Given the description of an element on the screen output the (x, y) to click on. 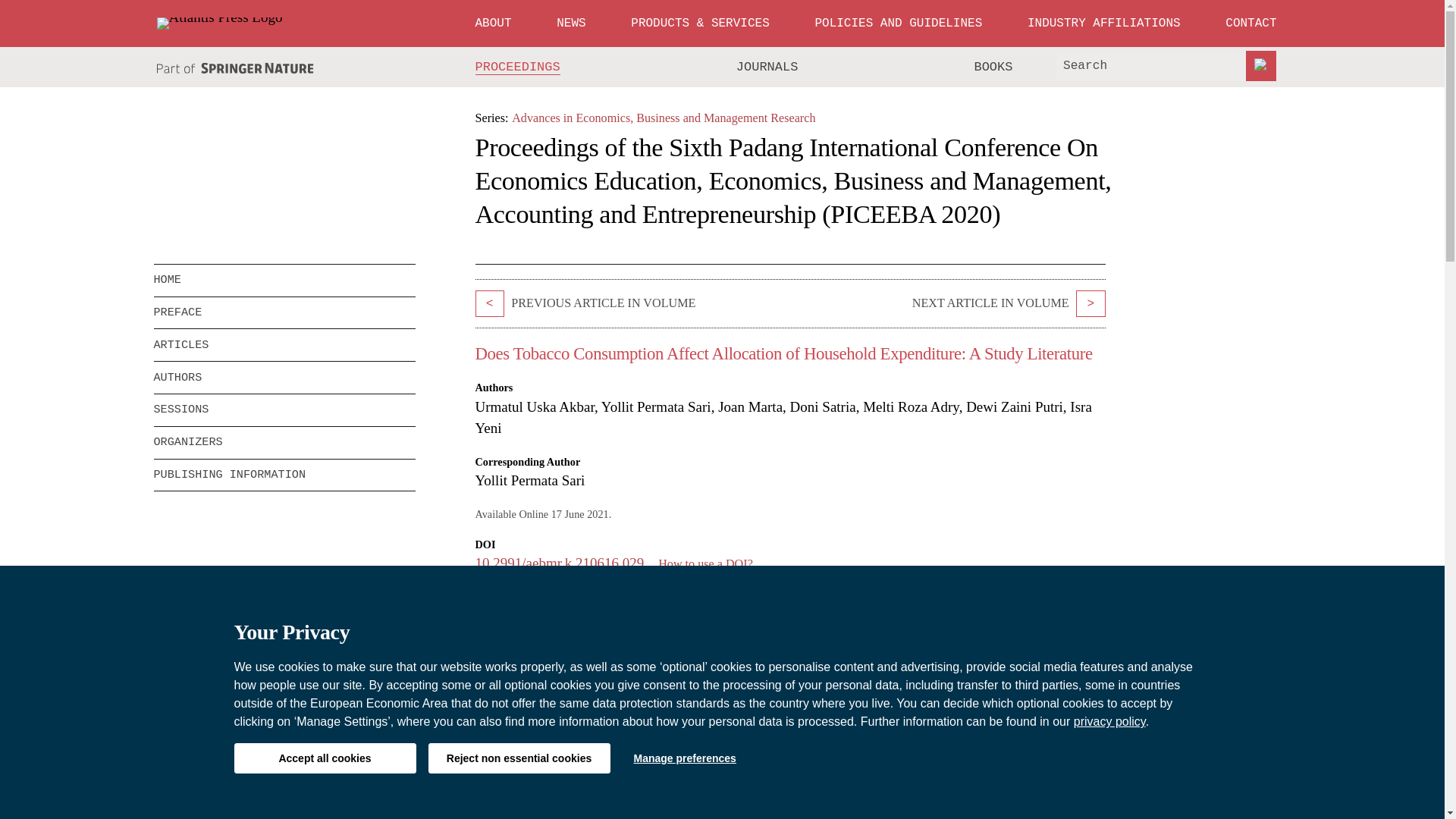
JOURNALS (767, 66)
PROCEEDINGS (518, 66)
ABOUT (493, 23)
Atlantis Press (218, 23)
Probability of Women Leaving Work After Marriage (488, 303)
How to use a DOI? (705, 563)
ORGANIZERS (283, 442)
privacy policy (1109, 721)
AUTHORS (283, 377)
PREFACE (283, 313)
